Given the description of an element on the screen output the (x, y) to click on. 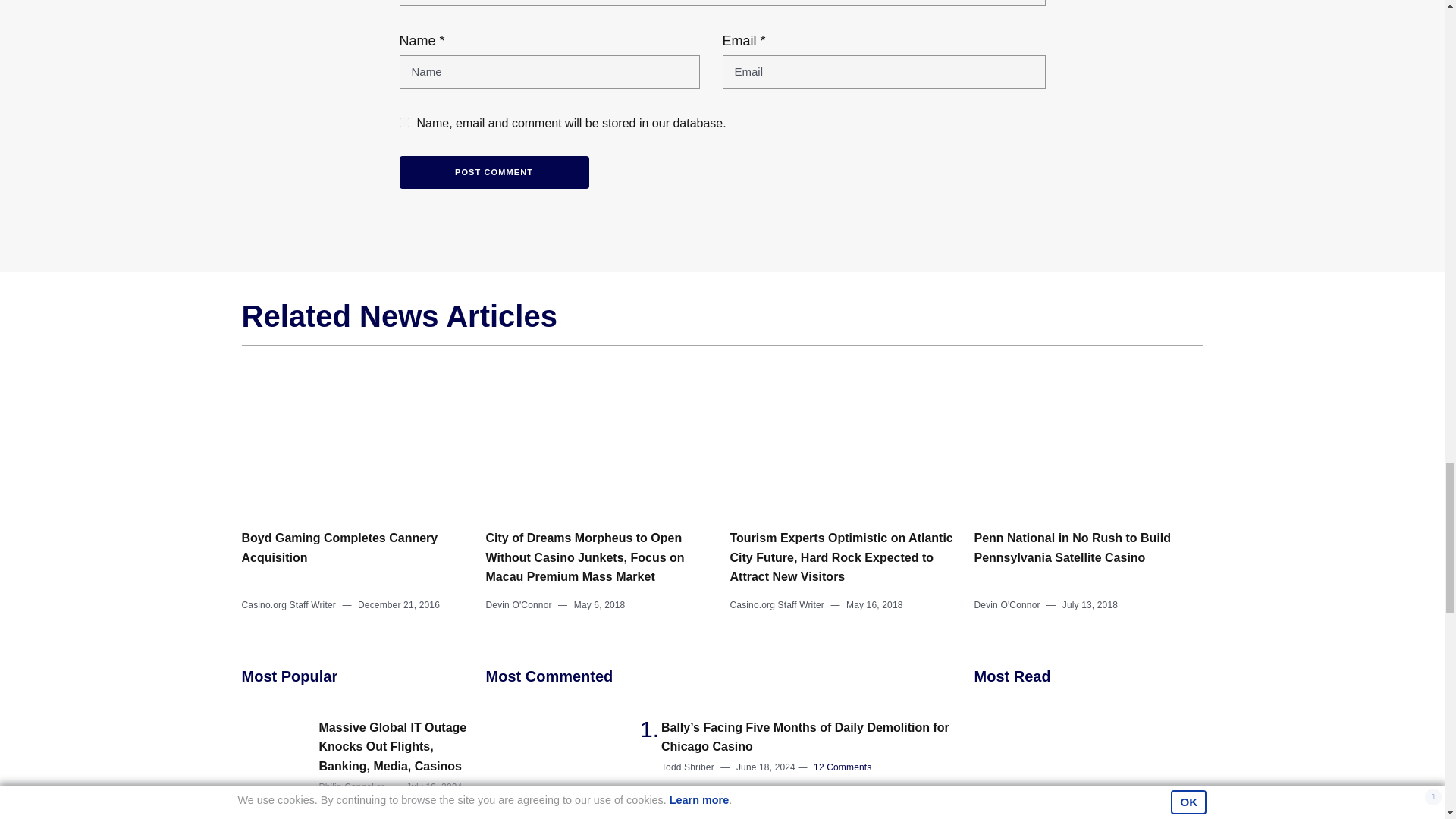
Post Comment (493, 172)
yes (403, 122)
